Given the description of an element on the screen output the (x, y) to click on. 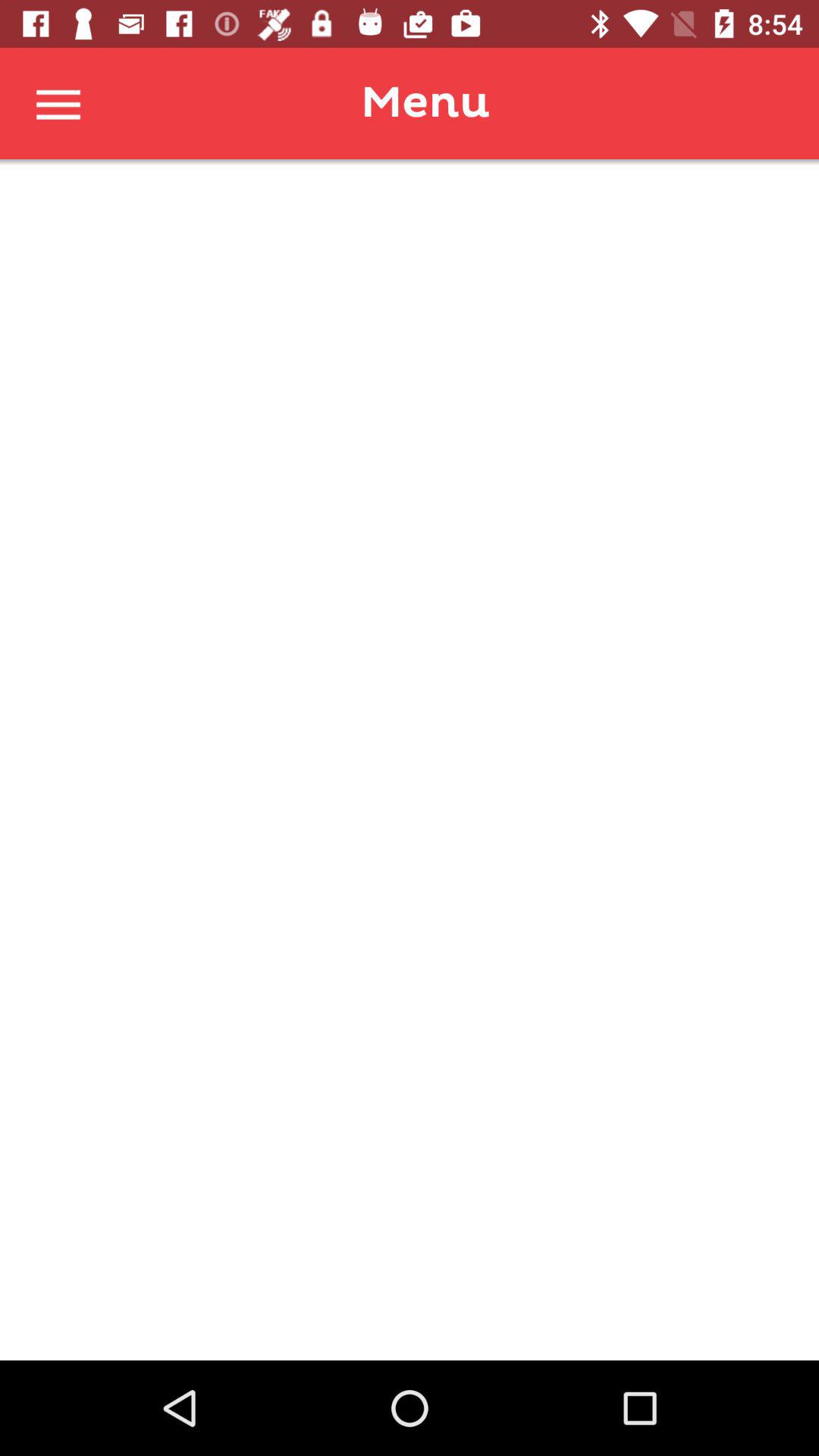
go to the menu curtain (59, 103)
